Given the description of an element on the screen output the (x, y) to click on. 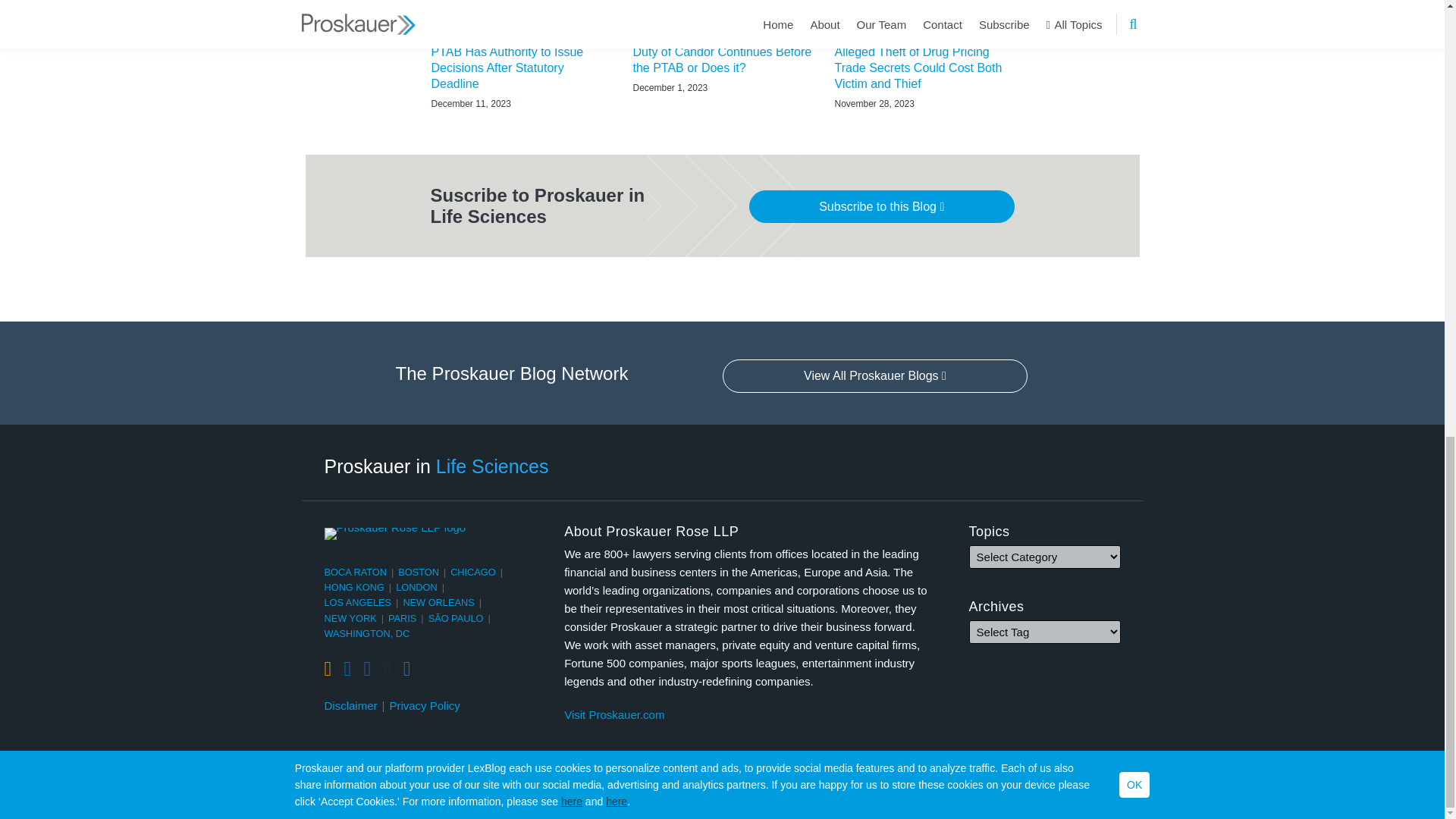
Proskauer in Life Sciences (436, 465)
View All Proskauer Blogs (874, 376)
Duty of Candor Continues Before the PTAB or Does it? (720, 60)
Subscribe to this Blog (881, 206)
LexBlog Logo (1131, 793)
